Given the description of an element on the screen output the (x, y) to click on. 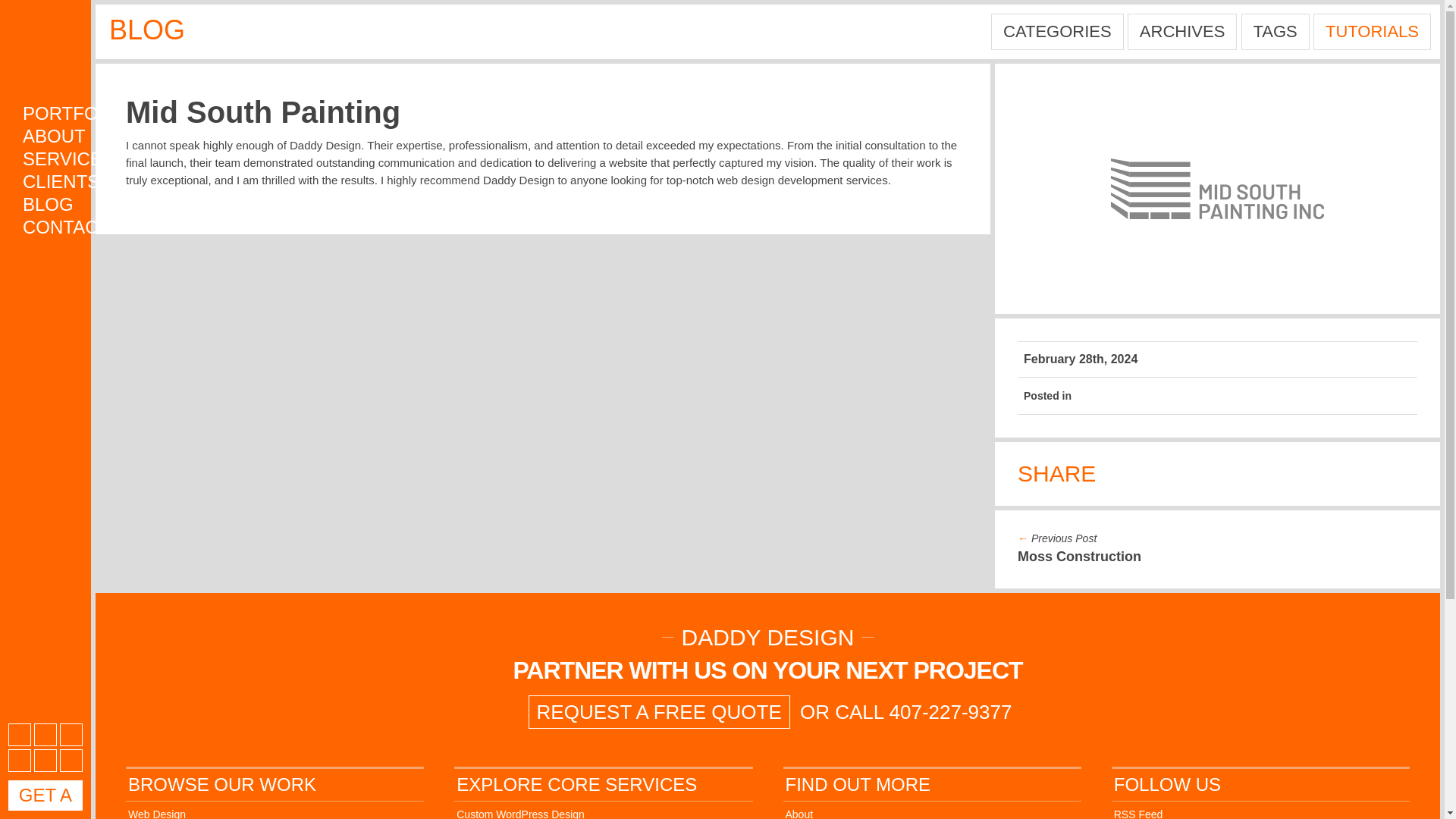
ARCHIVES (1181, 31)
LinkedIn (70, 760)
Instagram (19, 760)
Daddy Design Web, Wordpress and Facebook Designs (767, 637)
Facebook (44, 734)
Twitter (70, 734)
Tutorials (1372, 31)
CLIENTS (50, 181)
Subscribe to our RSS Feed (19, 734)
Instagram (19, 760)
